Given the description of an element on the screen output the (x, y) to click on. 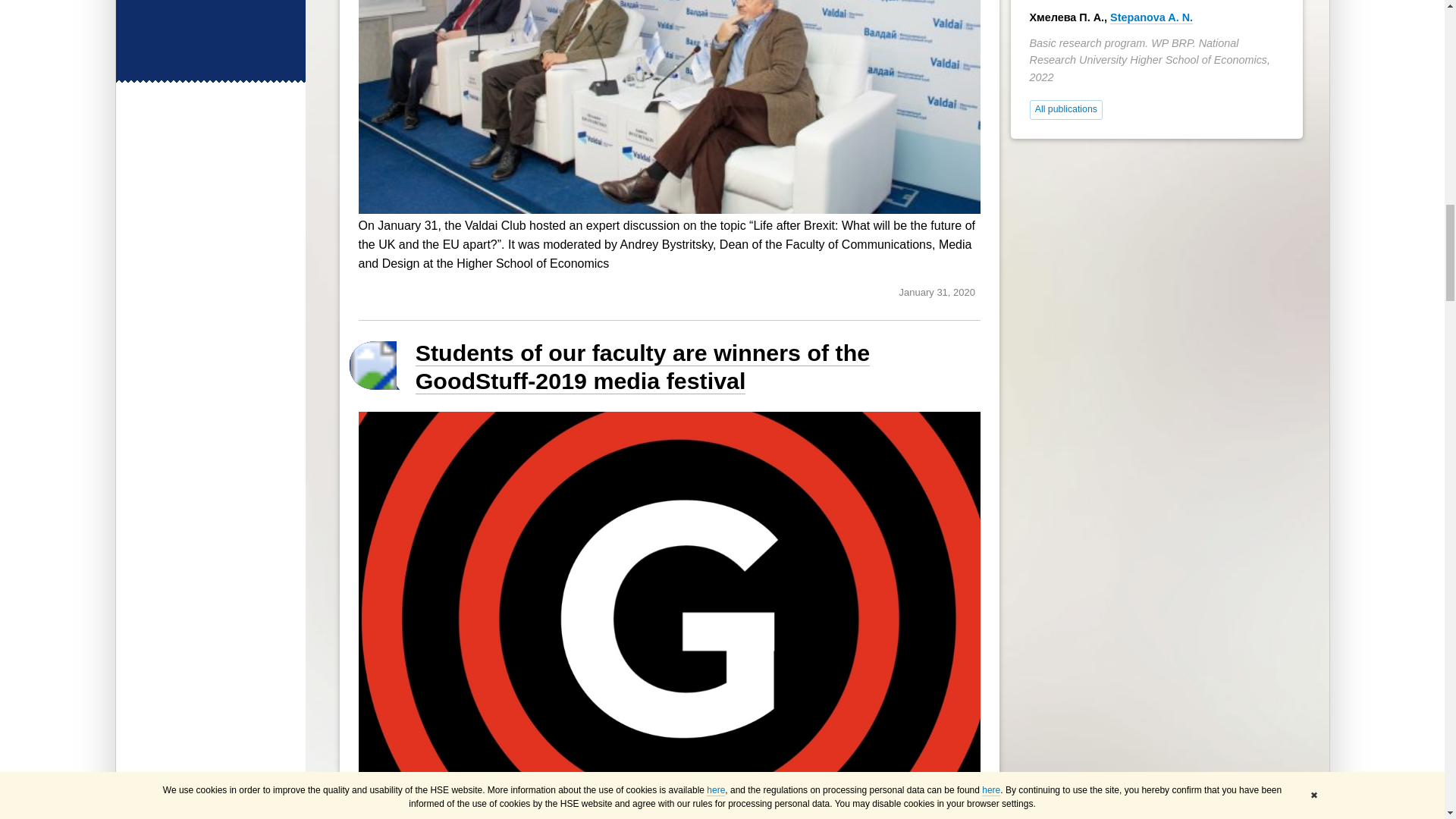
All publications (1066, 109)
